Given the description of an element on the screen output the (x, y) to click on. 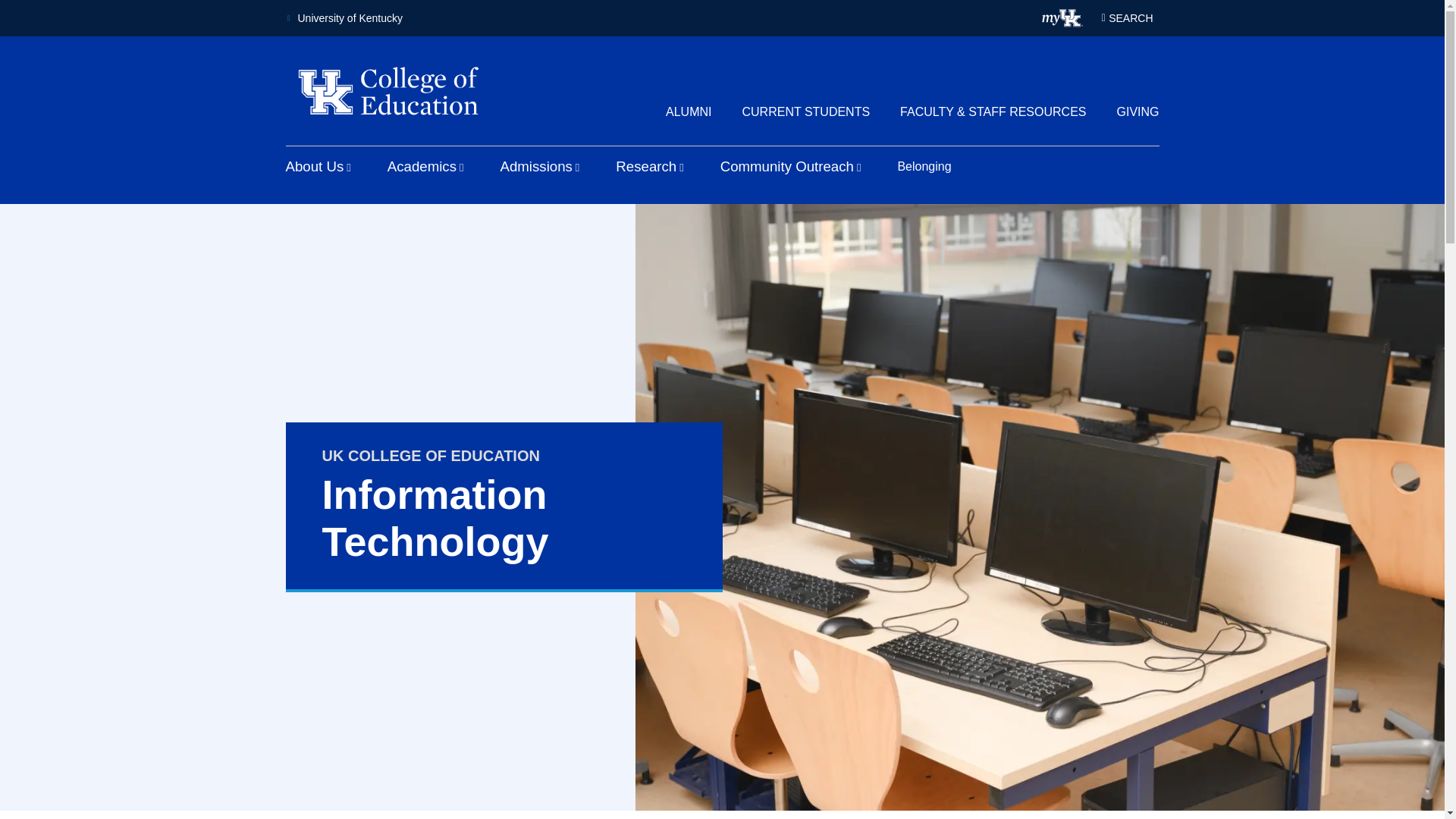
Academics (425, 167)
SEARCH (1127, 17)
GIVING (1137, 111)
ALUMNI (688, 111)
Admissions (539, 167)
About Us (317, 167)
Back to University of Kentucky home page (344, 18)
Research (648, 167)
Log into the myUK portal (1062, 18)
University of Kentucky (344, 18)
